Given the description of an element on the screen output the (x, y) to click on. 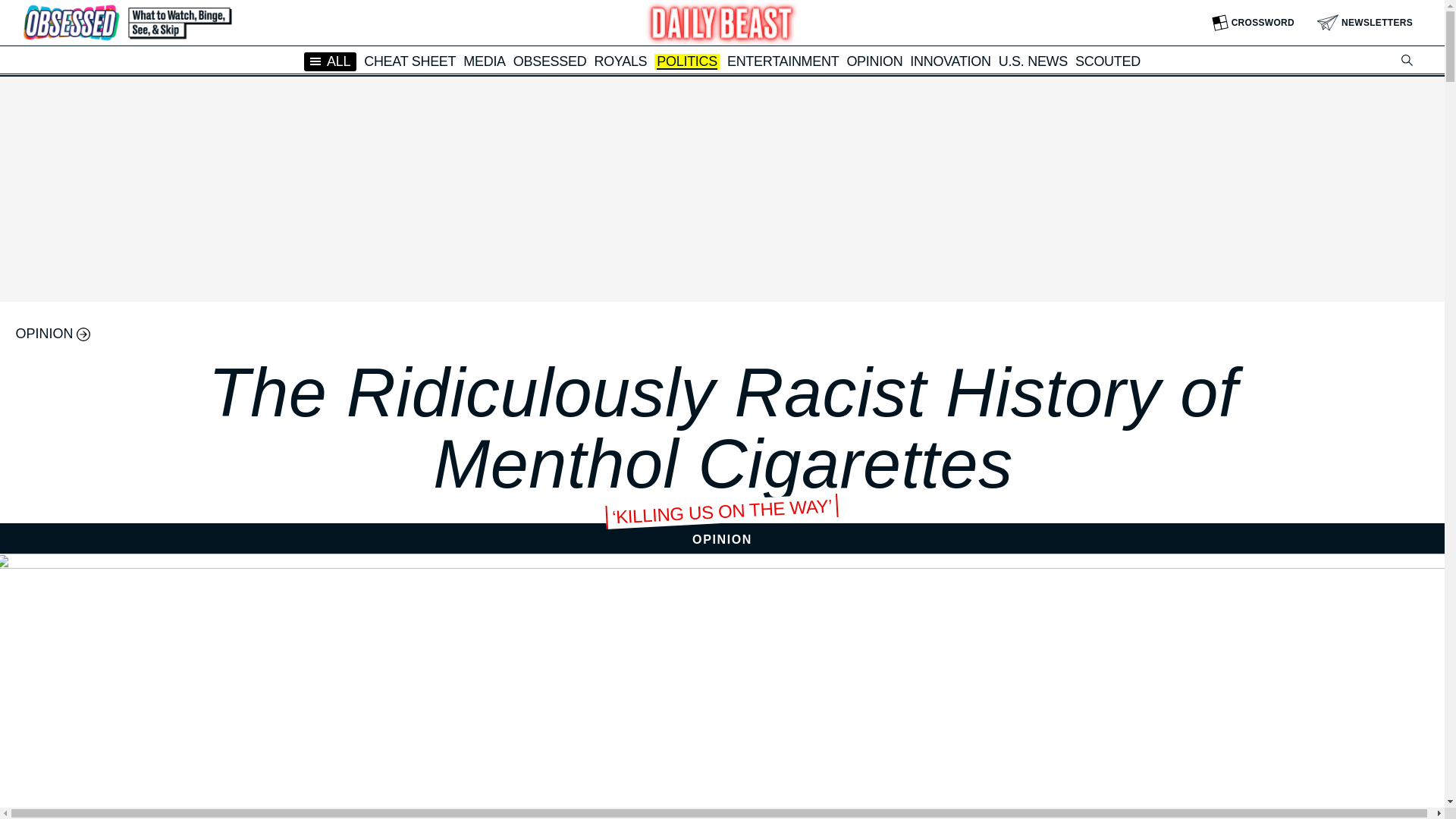
ENTERTAINMENT (782, 60)
OBSESSED (549, 60)
NEWSLETTERS (1364, 22)
CROSSWORD (1252, 22)
INNOVATION (950, 60)
SCOUTED (1107, 60)
U.S. NEWS (1032, 60)
ALL (330, 60)
OPINION (873, 60)
MEDIA (484, 60)
POLITICS (686, 61)
CHEAT SHEET (409, 60)
ROYALS (620, 60)
